Given the description of an element on the screen output the (x, y) to click on. 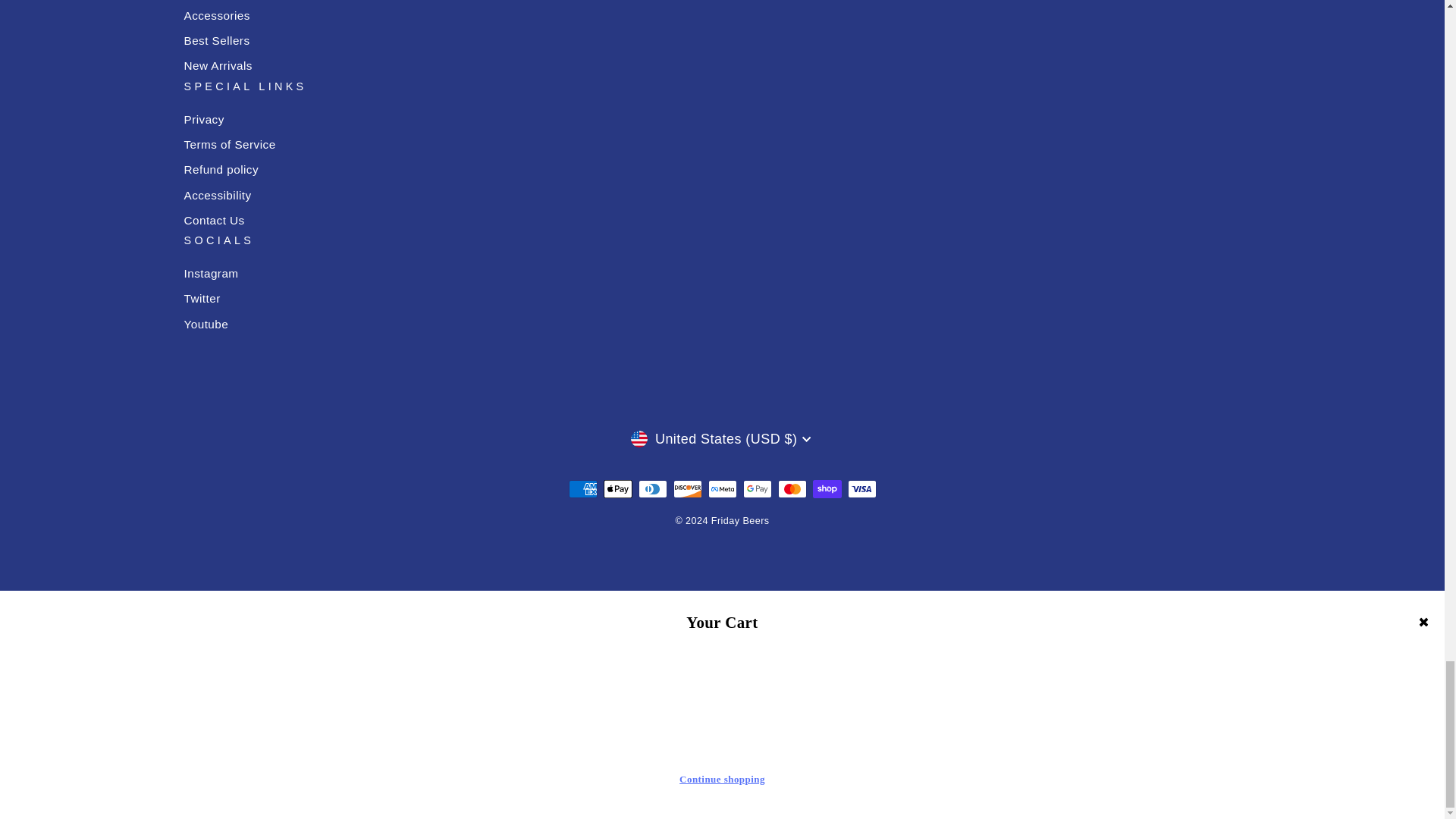
Google Pay (756, 488)
Apple Pay (617, 488)
Discover (686, 488)
Shop Pay (826, 488)
American Express (582, 488)
Meta Pay (721, 488)
Mastercard (791, 488)
Diners Club (652, 488)
